Given the description of an element on the screen output the (x, y) to click on. 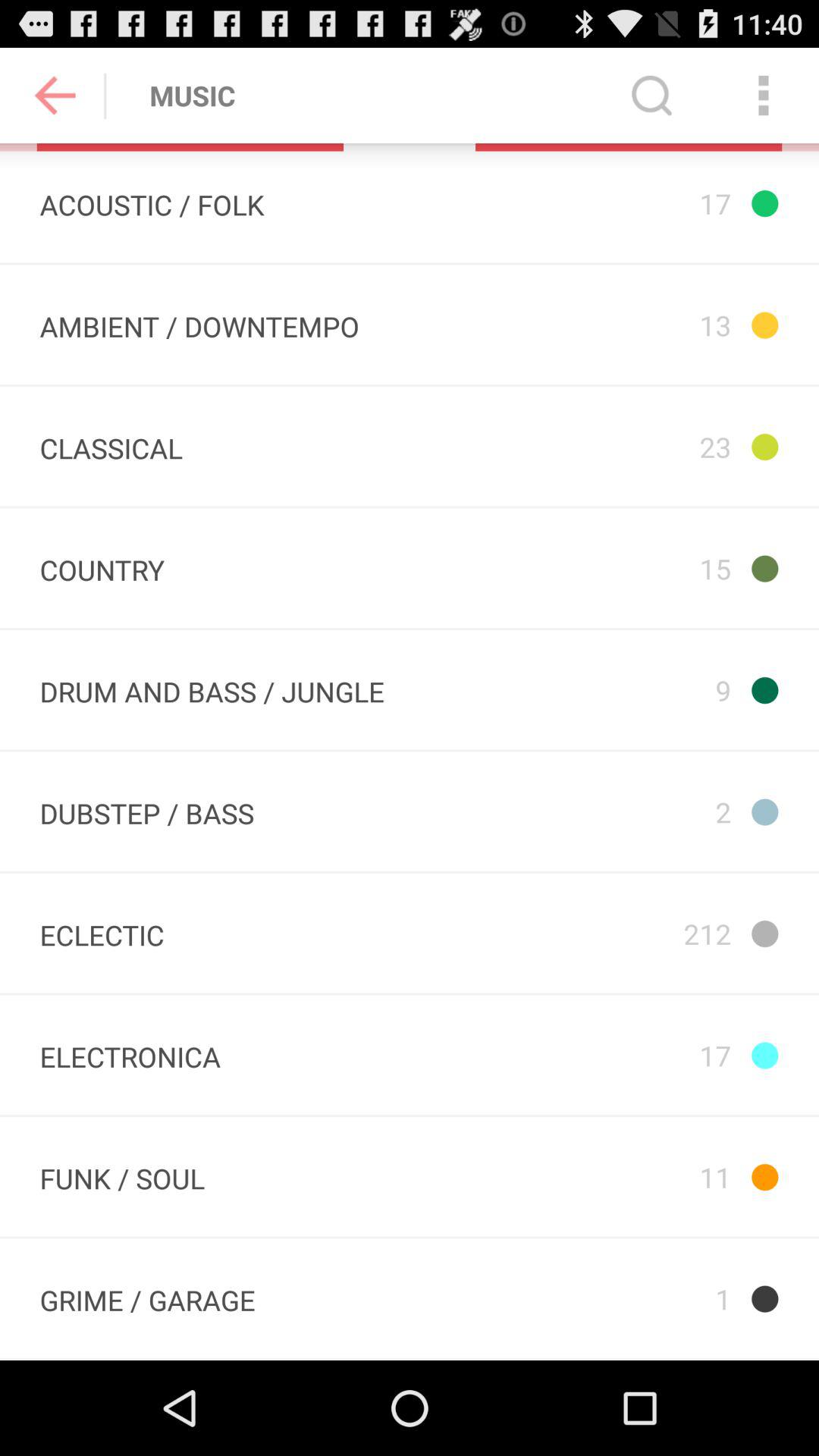
press 212 icon (613, 933)
